Given the description of an element on the screen output the (x, y) to click on. 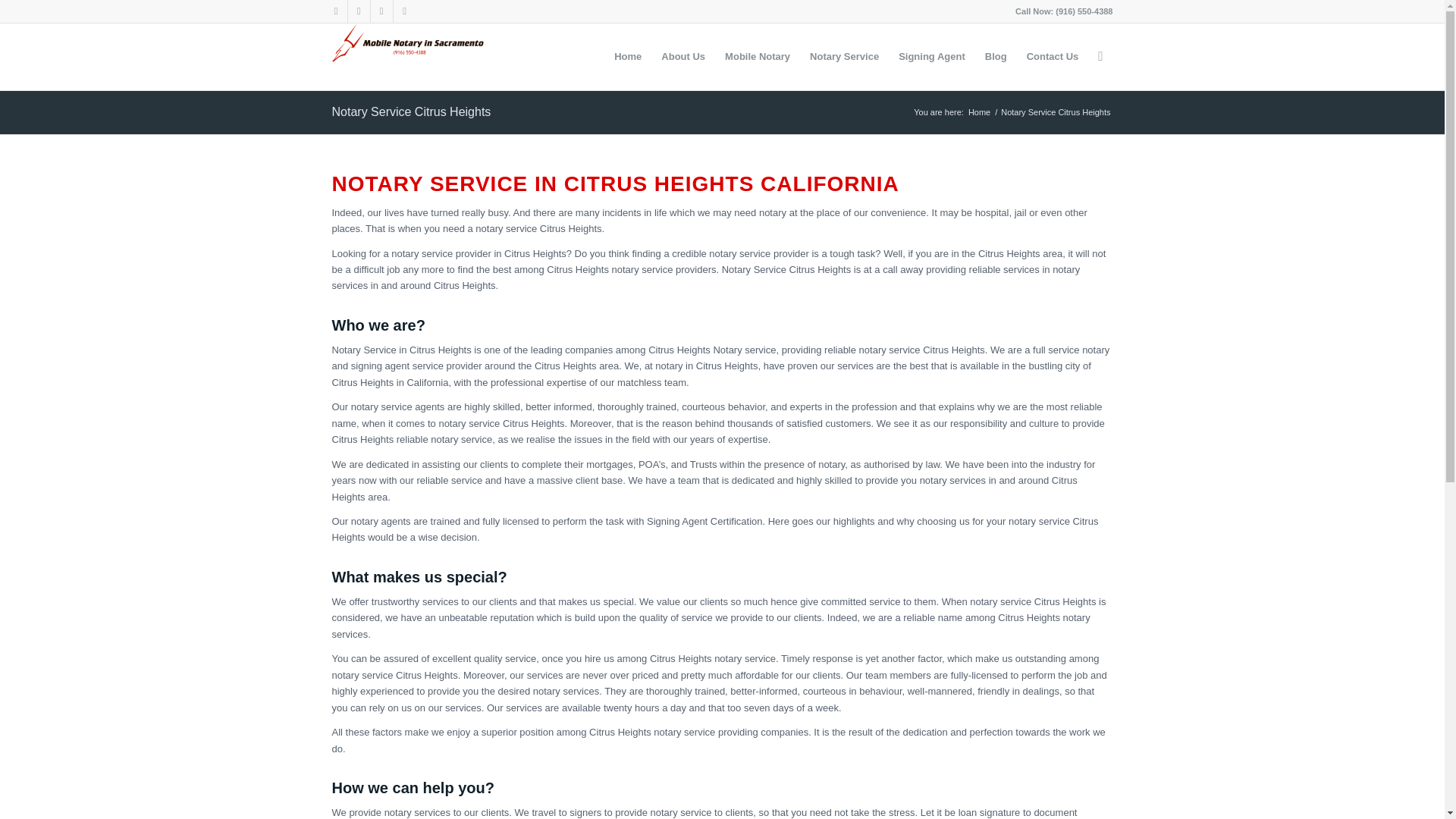
About Us (682, 56)
Notary Service Sacramento (843, 56)
Mobile Notary Sacramento (756, 56)
Youtube (380, 11)
Signing Agent (931, 56)
Facebook (358, 11)
Mobile Notary (756, 56)
Notary Service (843, 56)
Permanent Link: Notary Service Citrus Heights (411, 111)
Contact Us (1052, 56)
